Given the description of an element on the screen output the (x, y) to click on. 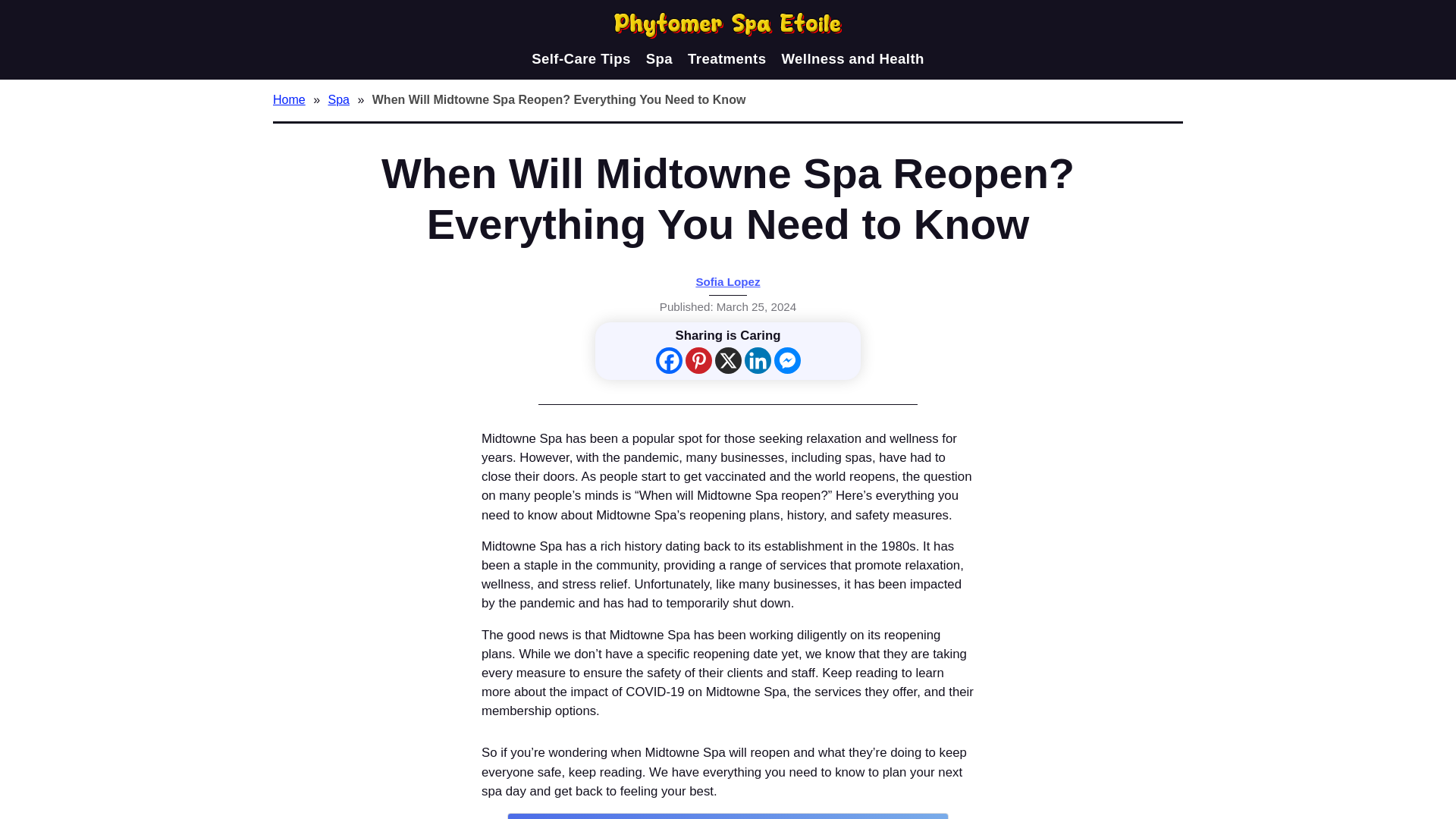
Treatments (726, 58)
Sofia Lopez (727, 281)
Wellness and Health (851, 58)
Facebook (668, 360)
Home (291, 99)
Pinterest (698, 360)
Spa (659, 58)
X (727, 360)
Linkedin (757, 360)
Self-Care Tips (580, 58)
Spa (340, 99)
